Given the description of an element on the screen output the (x, y) to click on. 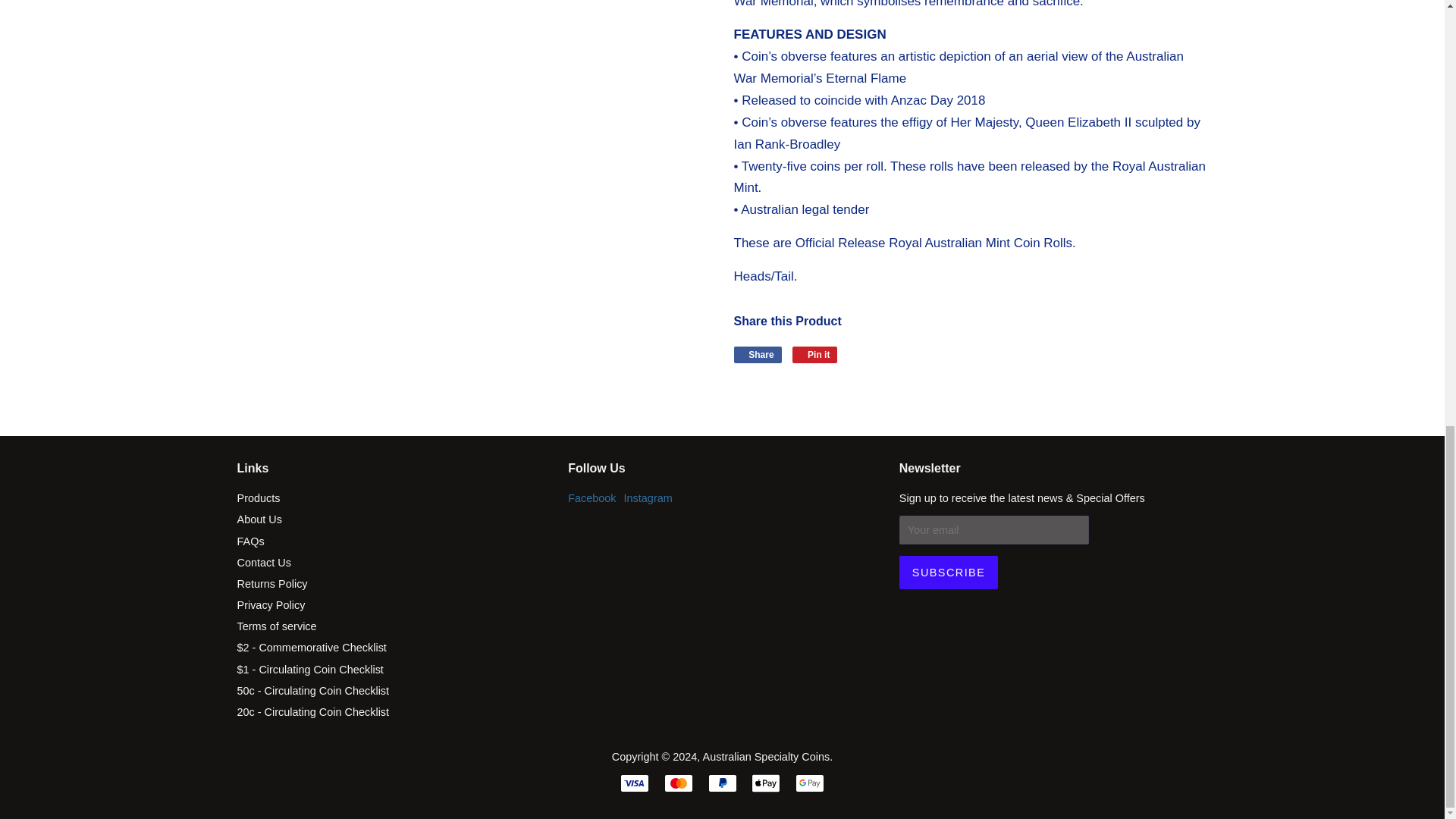
Australian Specialty Coins on Facebook (591, 498)
PayPal (721, 782)
Australian Specialty Coins on Instagram (648, 498)
Pin on Pinterest (814, 354)
Mastercard (678, 782)
Apple Pay (765, 782)
Subscribe (948, 572)
Google Pay (809, 782)
Visa (634, 782)
Share on Facebook (757, 354)
